Given the description of an element on the screen output the (x, y) to click on. 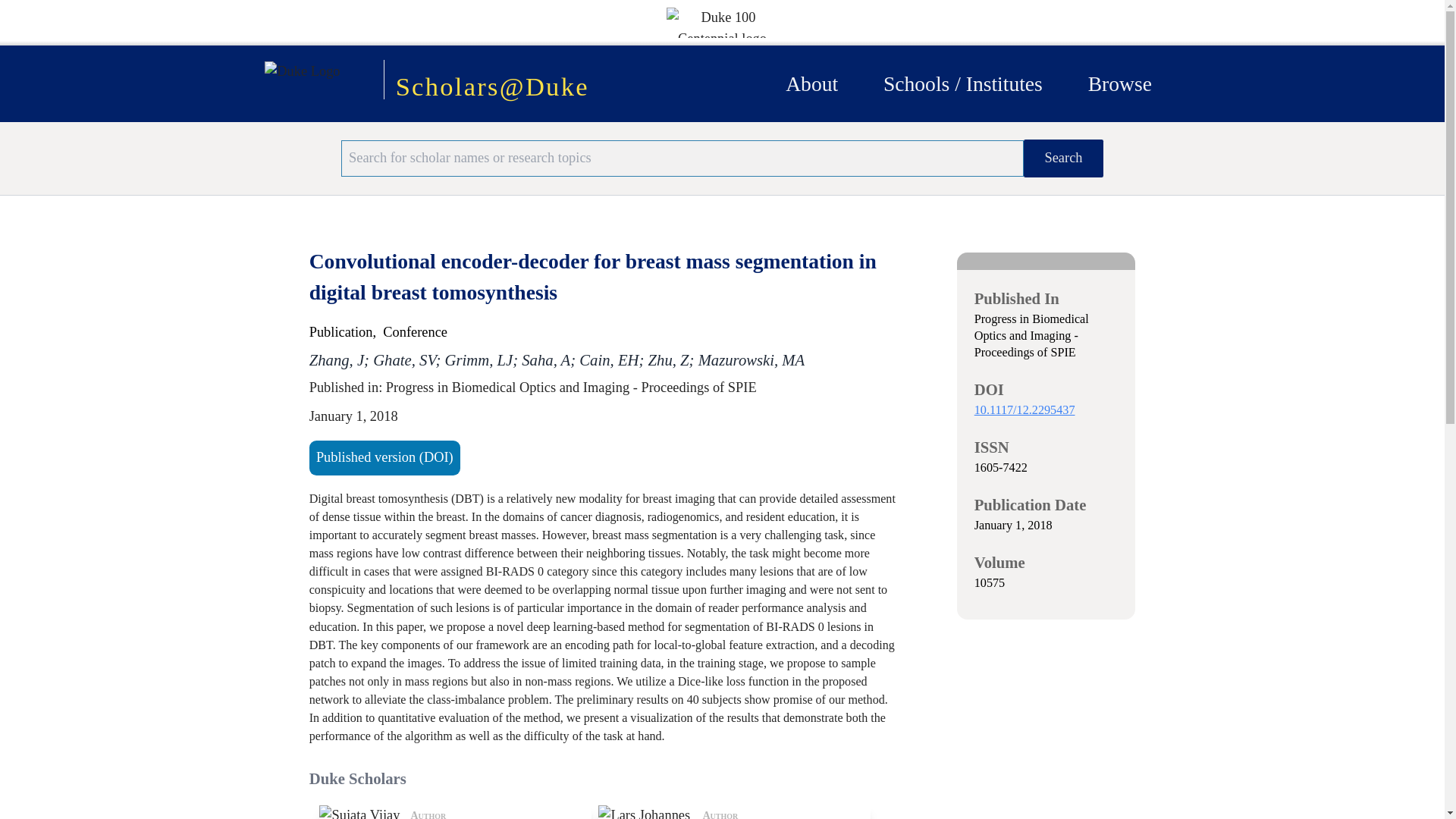
Browse (455, 812)
Search (1119, 83)
Search (1063, 158)
About (1063, 158)
Search (735, 812)
